Given the description of an element on the screen output the (x, y) to click on. 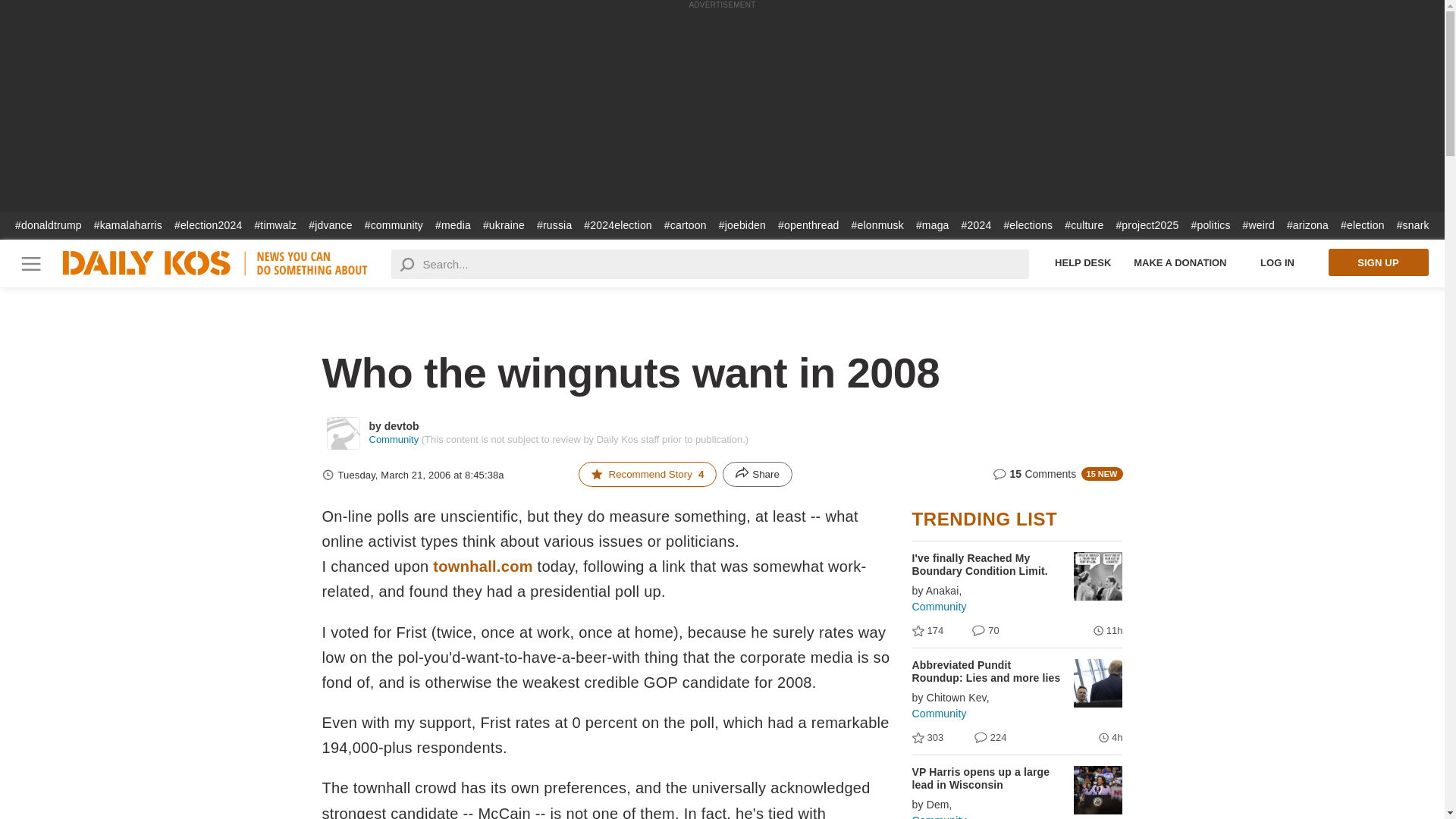
Help Desk (1082, 262)
MAKE A DONATION (1179, 262)
Make a Donation (1179, 262)
